Given the description of an element on the screen output the (x, y) to click on. 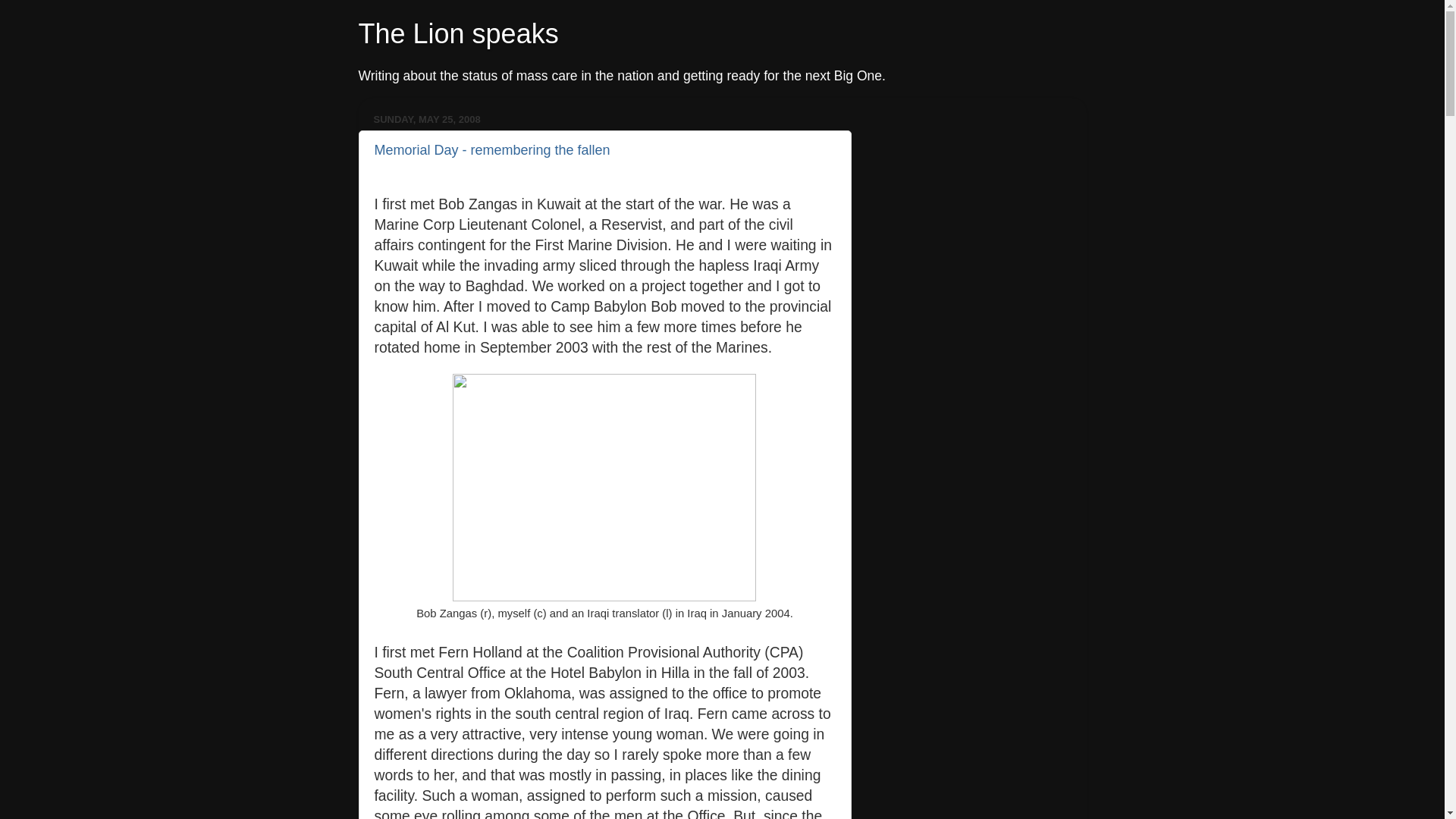
Memorial Day - remembering the fallen (492, 150)
The Lion speaks (457, 33)
